Given the description of an element on the screen output the (x, y) to click on. 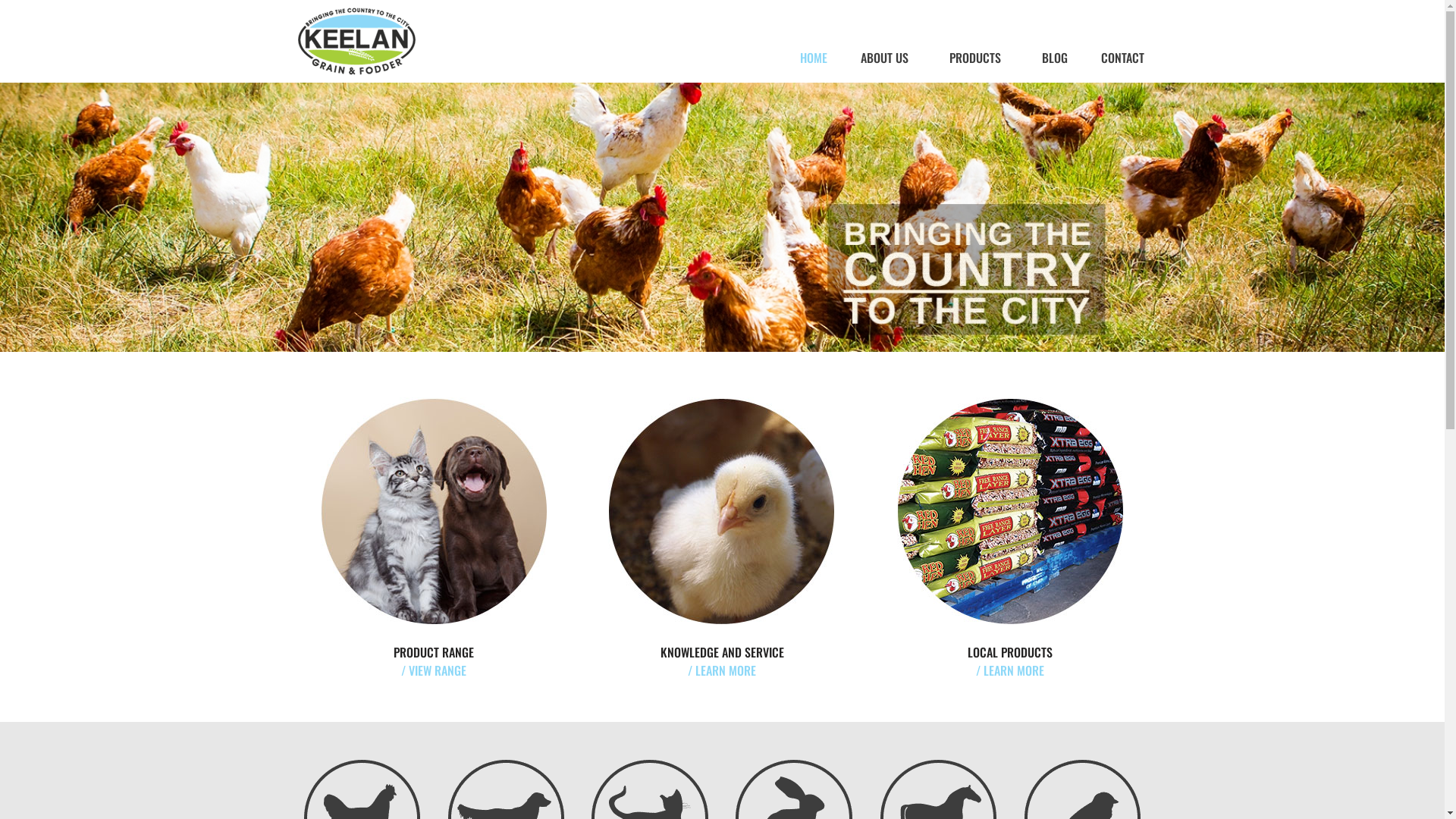
BLOG Element type: text (1054, 57)
ABOUT US Element type: text (888, 57)
/ LEARN MORE Element type: text (721, 670)
/ LEARN MORE Element type: text (1009, 670)
/ VIEW RANGE Element type: text (433, 670)
CONTACT Element type: text (1122, 57)
HOME Element type: text (813, 57)
PRODUCTS Element type: text (978, 57)
